Given the description of an element on the screen output the (x, y) to click on. 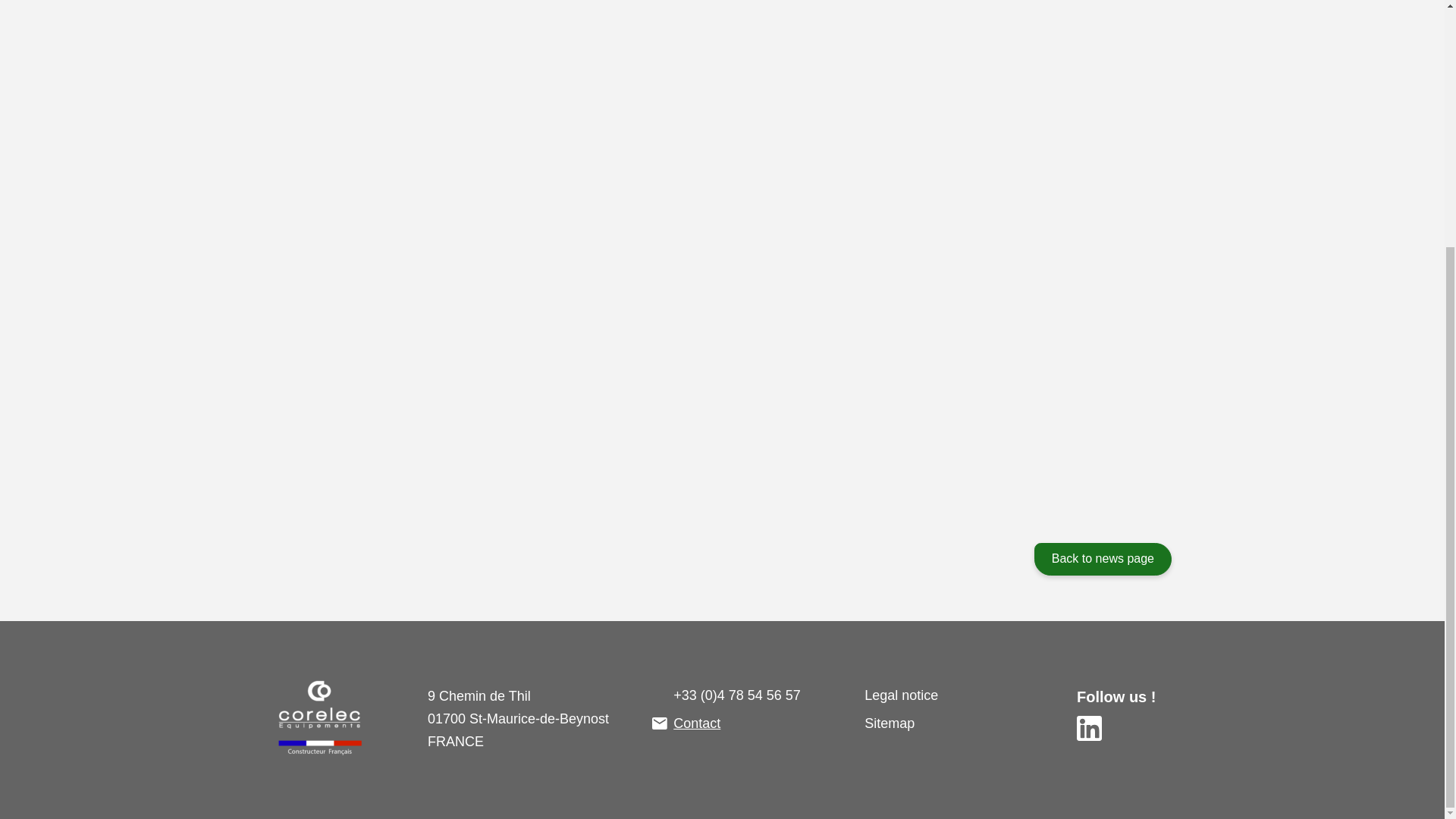
Sitemap (889, 723)
Back to news page (1102, 558)
Legal notice (900, 695)
Contact (696, 723)
